Given the description of an element on the screen output the (x, y) to click on. 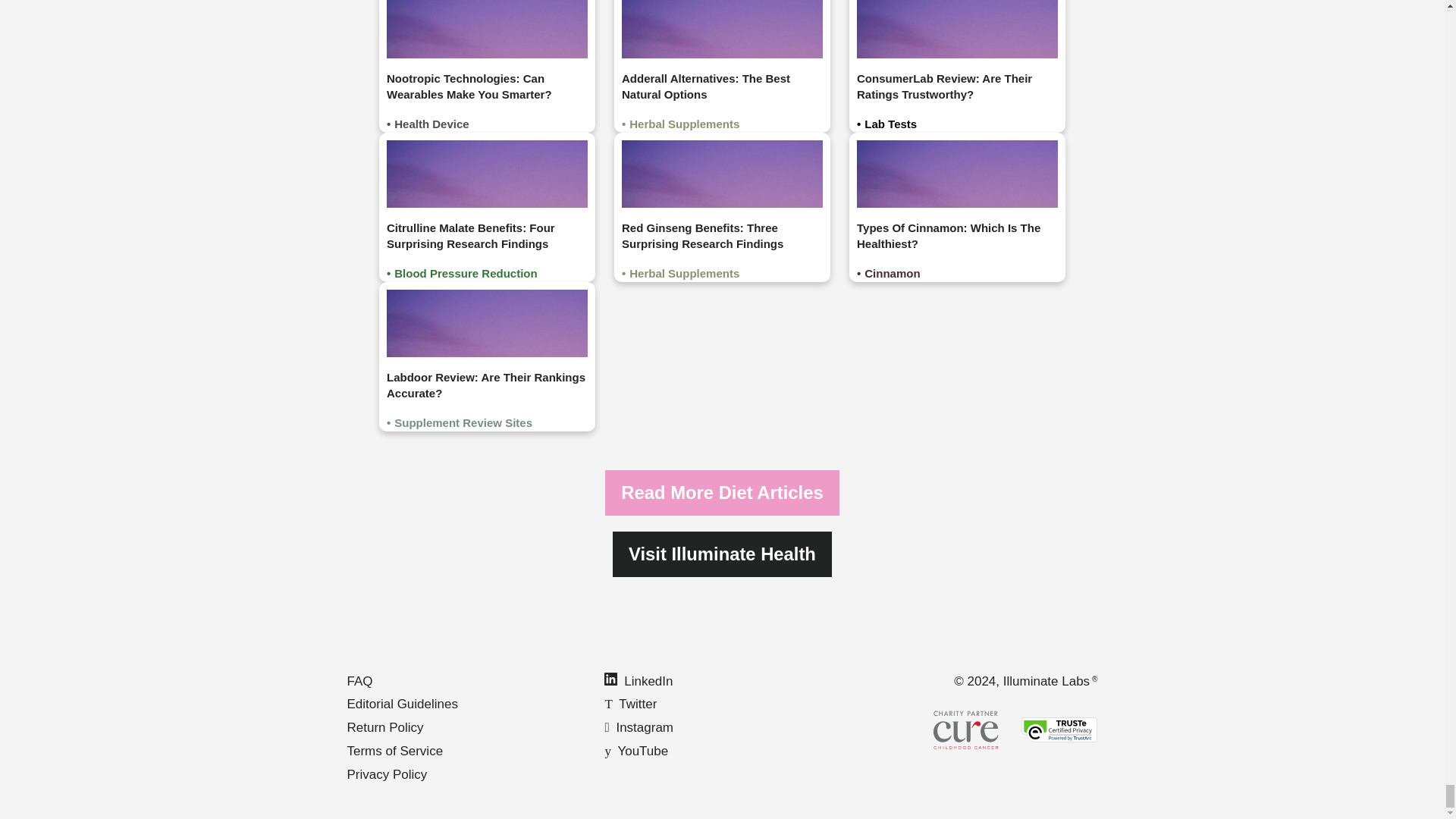
Illuminate Labs on YouTube (636, 750)
Illuminate Labs on Twitter (630, 703)
Illuminate Labs on Instagram (638, 727)
Illuminate Labs on LinkedIn (638, 681)
